Given the description of an element on the screen output the (x, y) to click on. 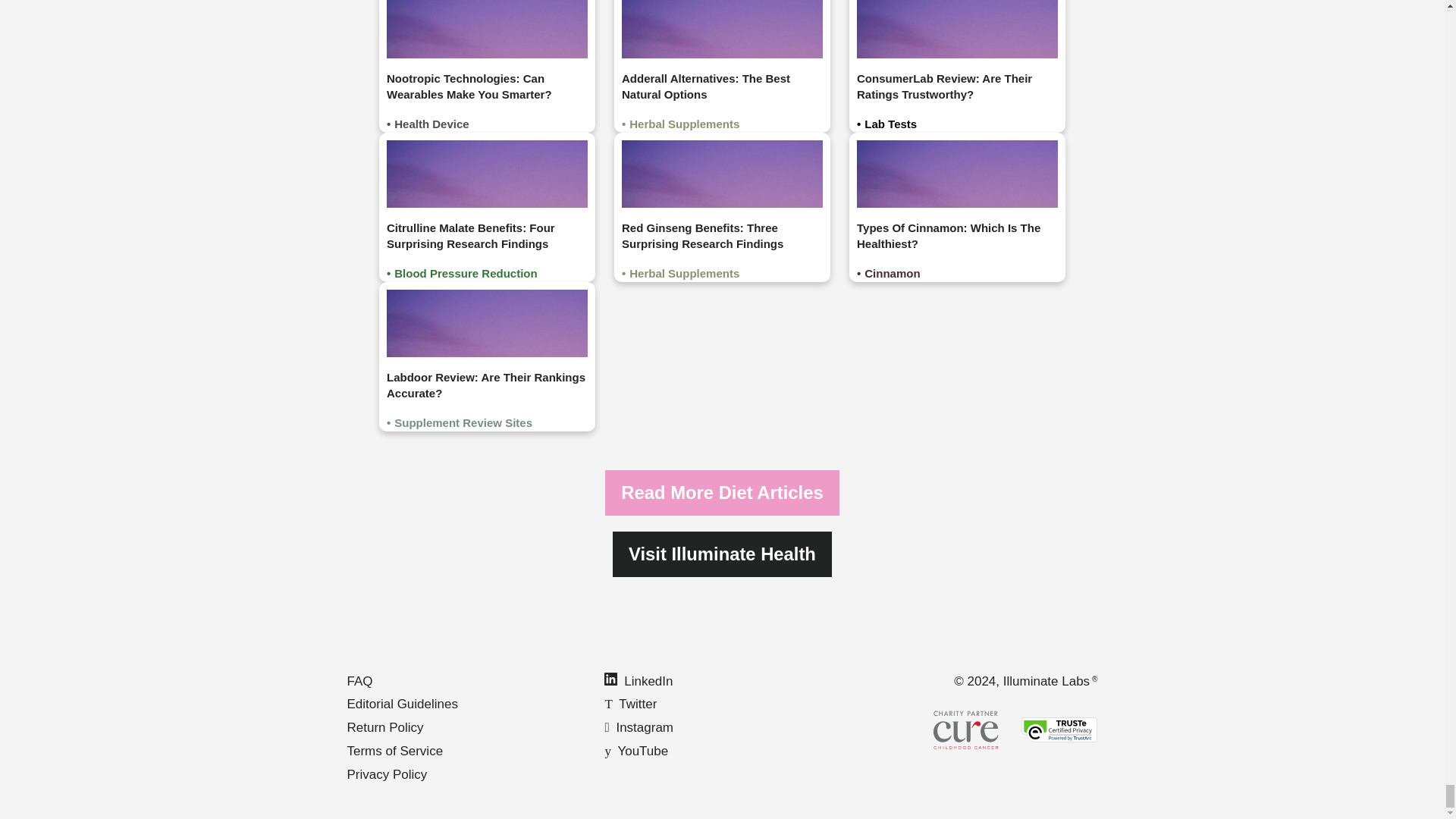
Illuminate Labs on YouTube (636, 750)
Illuminate Labs on Twitter (630, 703)
Illuminate Labs on Instagram (638, 727)
Illuminate Labs on LinkedIn (638, 681)
